Given the description of an element on the screen output the (x, y) to click on. 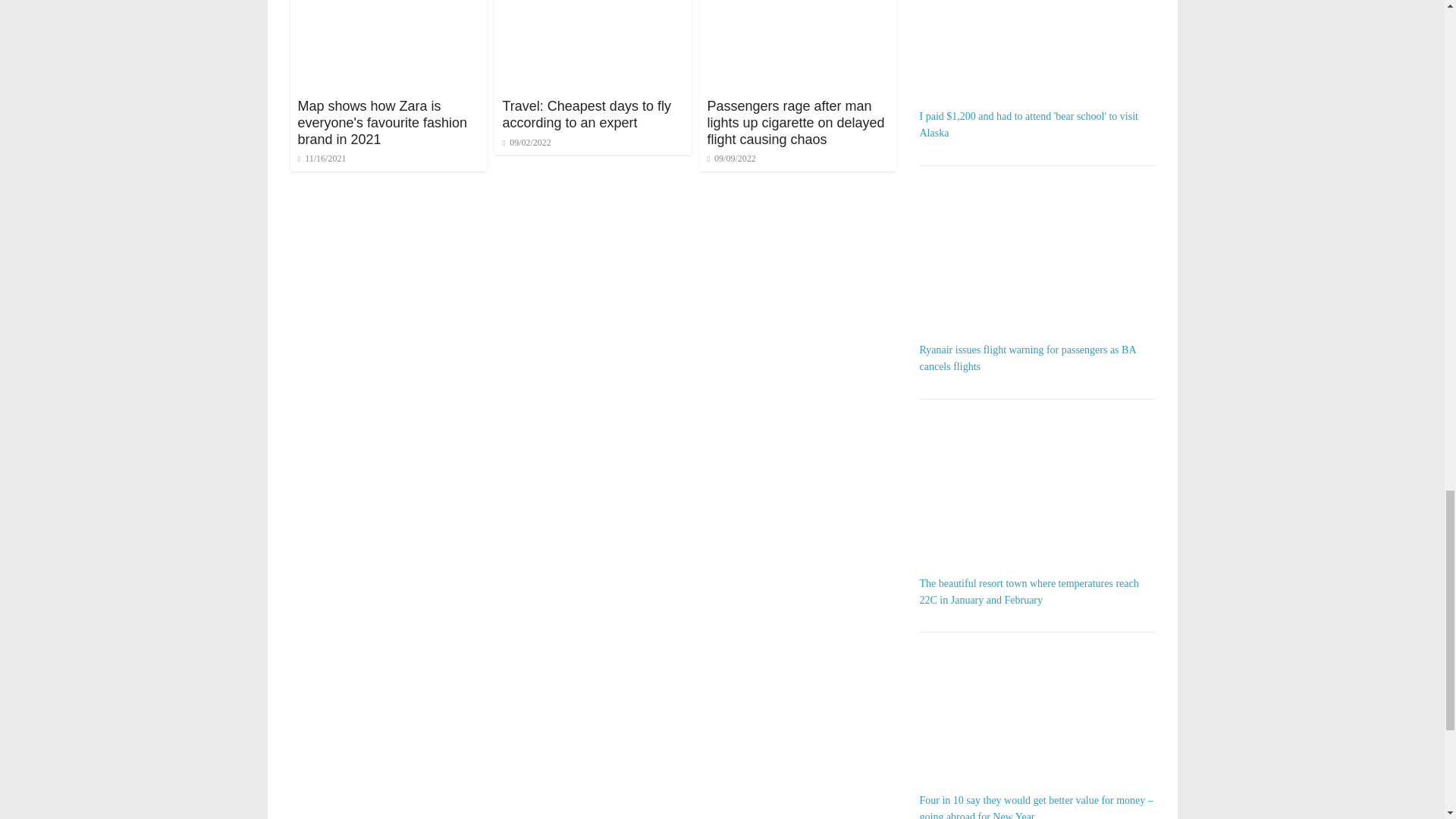
Travel: Cheapest days to fly according to an expert (585, 114)
13:56 (730, 158)
19:56 (321, 158)
08:06 (526, 142)
Travel: Cheapest days to fly according to an expert (593, 2)
Travel: Cheapest days to fly according to an expert (585, 114)
